Given the description of an element on the screen output the (x, y) to click on. 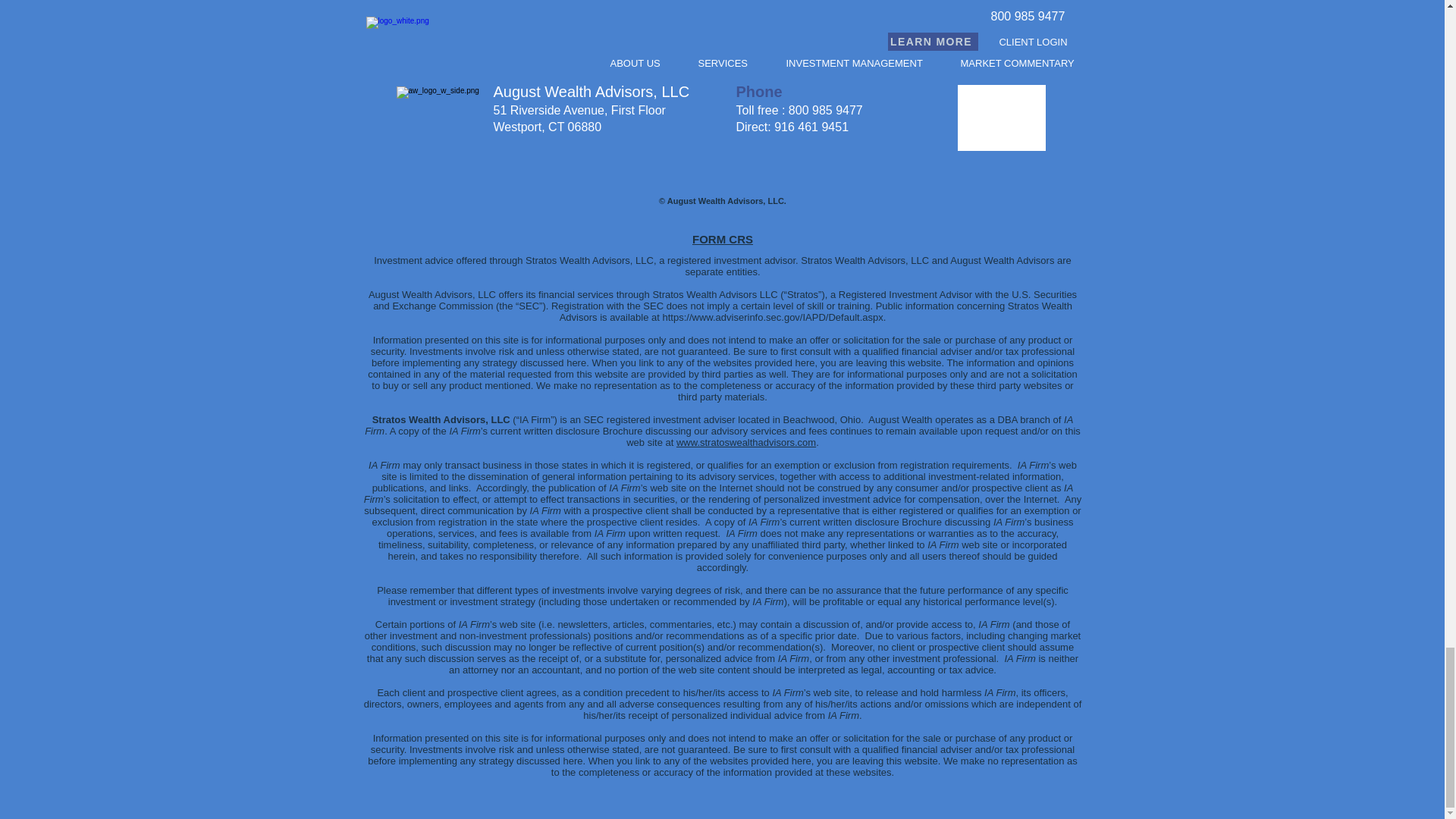
BACK TO TOP (717, 28)
FORM CRS (722, 238)
www.stratoswealthadvisors.com (746, 441)
